Given the description of an element on the screen output the (x, y) to click on. 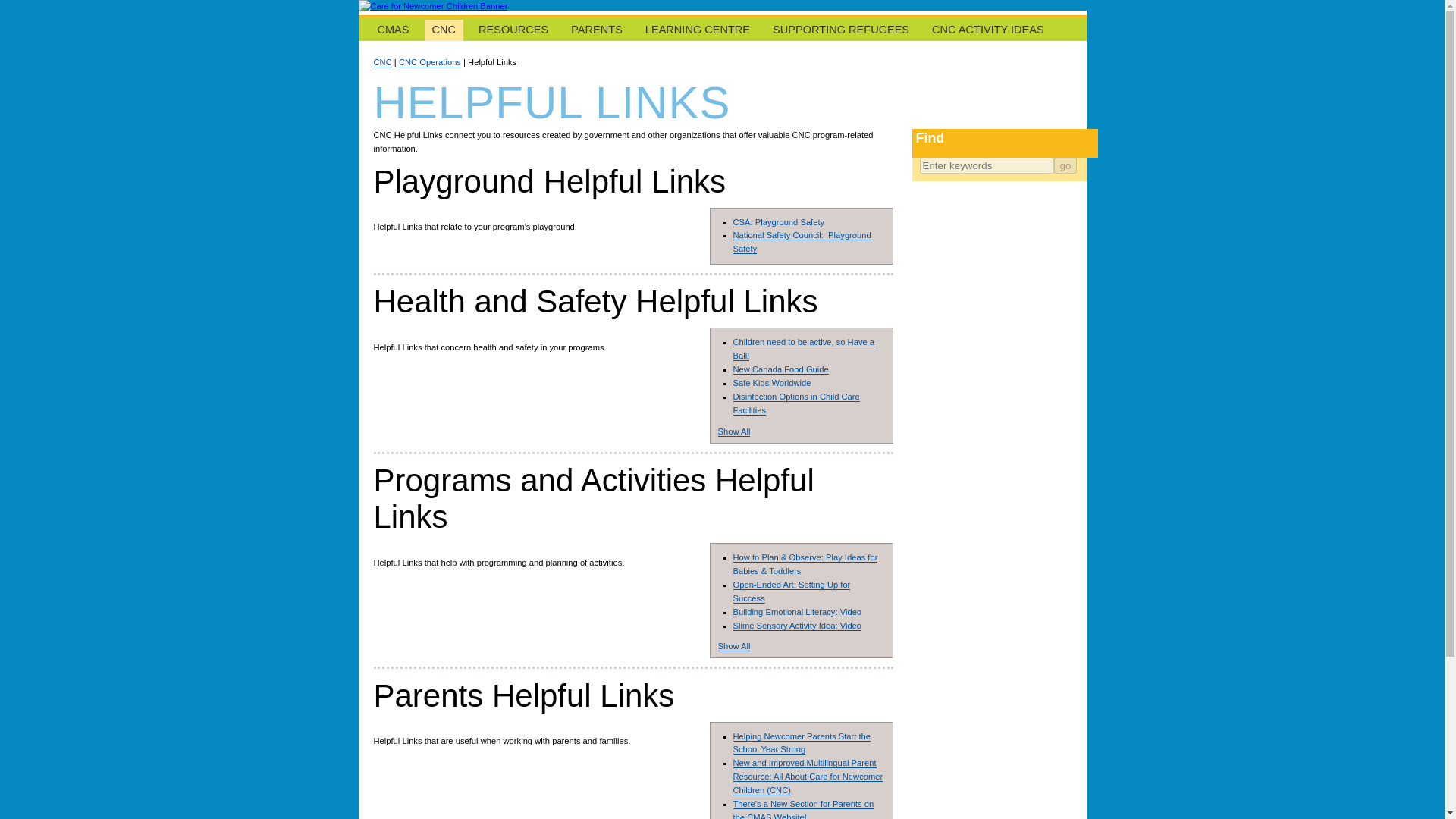
Search (1065, 165)
Open-Ended Art: Setting Up for Success (791, 591)
Disinfection Options in Child Care Facilities (795, 403)
New Canada Food Guide (780, 369)
Helping Newcomer Parents Start the School Year Strong (801, 742)
CMAS (392, 29)
Safe Kids Worldwide (771, 383)
Slime Sensory Activity Idea: Video (796, 624)
Building Emotional Literacy: Video (796, 612)
